Given the description of an element on the screen output the (x, y) to click on. 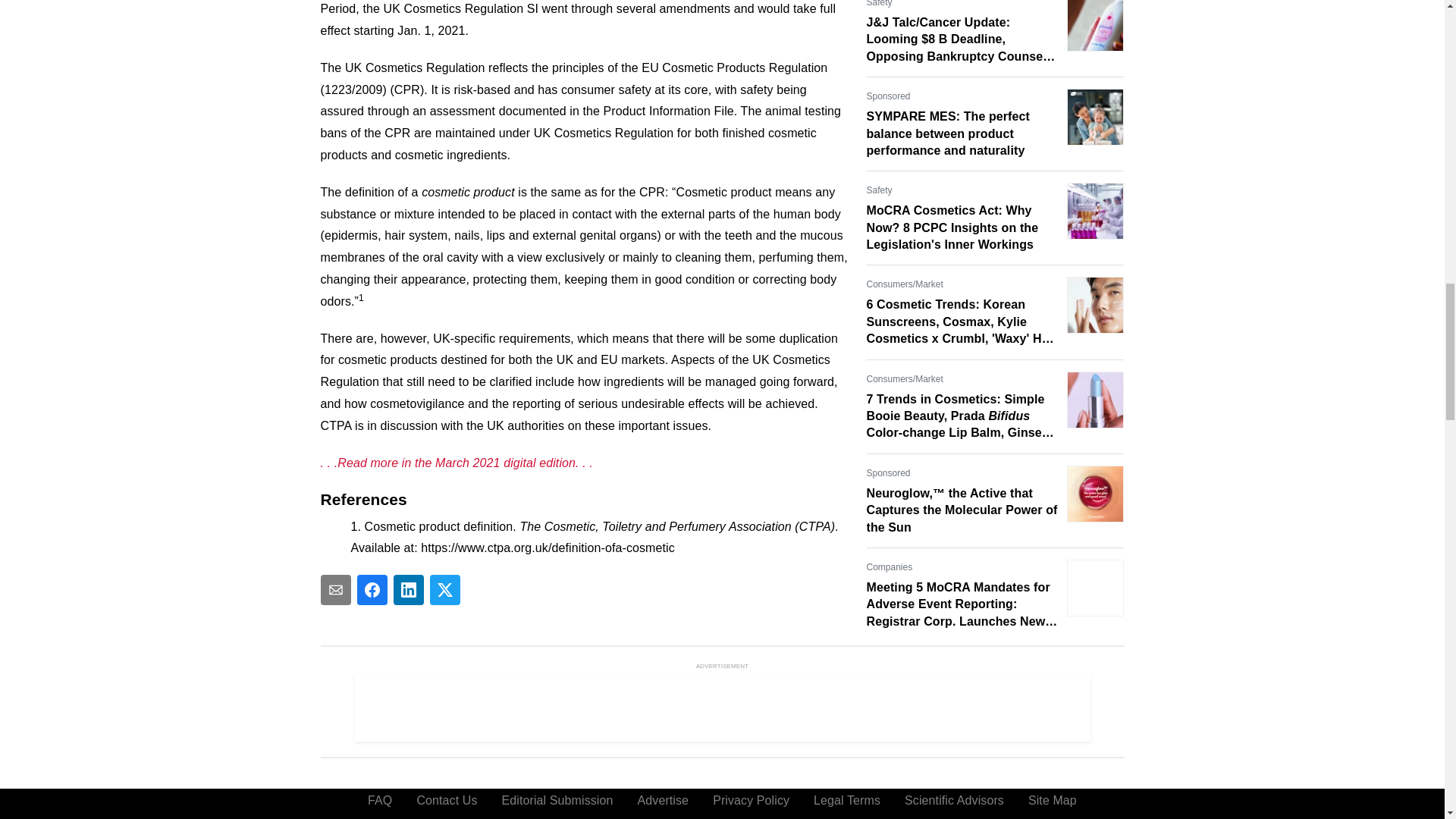
Share To twitter (444, 589)
Share To email (335, 589)
Sponsored (888, 473)
Sponsored (888, 96)
Share To linkedin (408, 589)
Share To facebook (371, 589)
